Given the description of an element on the screen output the (x, y) to click on. 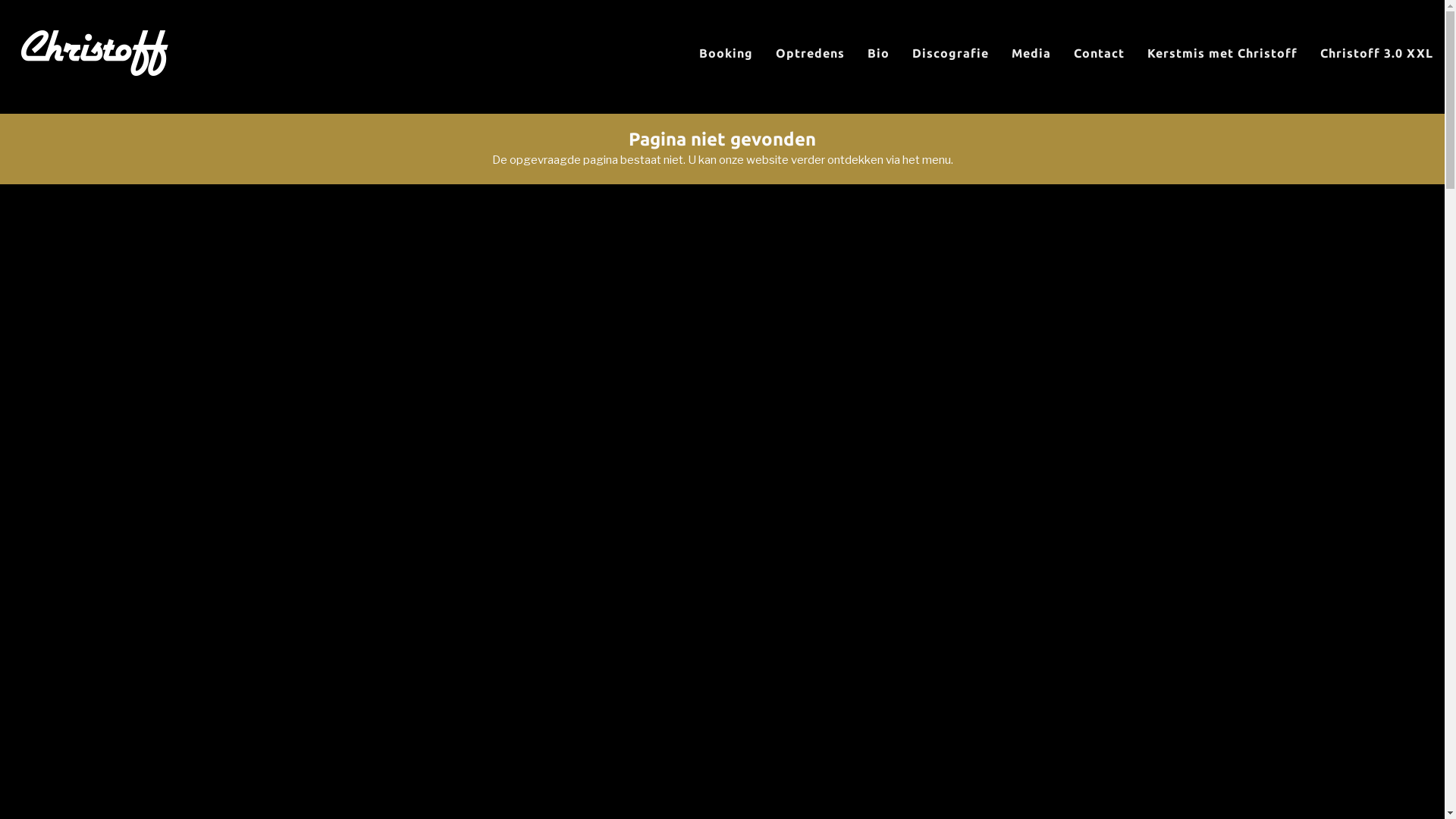
Booking Element type: text (725, 52)
Bio Element type: text (878, 52)
Discografie Element type: text (950, 52)
Media Element type: text (1031, 52)
Christoff Element type: hover (94, 53)
Optredens Element type: text (810, 52)
Contact Element type: text (1099, 52)
Christoff 3.0 XXL Element type: text (1376, 52)
Kerstmis met Christoff Element type: text (1222, 52)
